Given the description of an element on the screen output the (x, y) to click on. 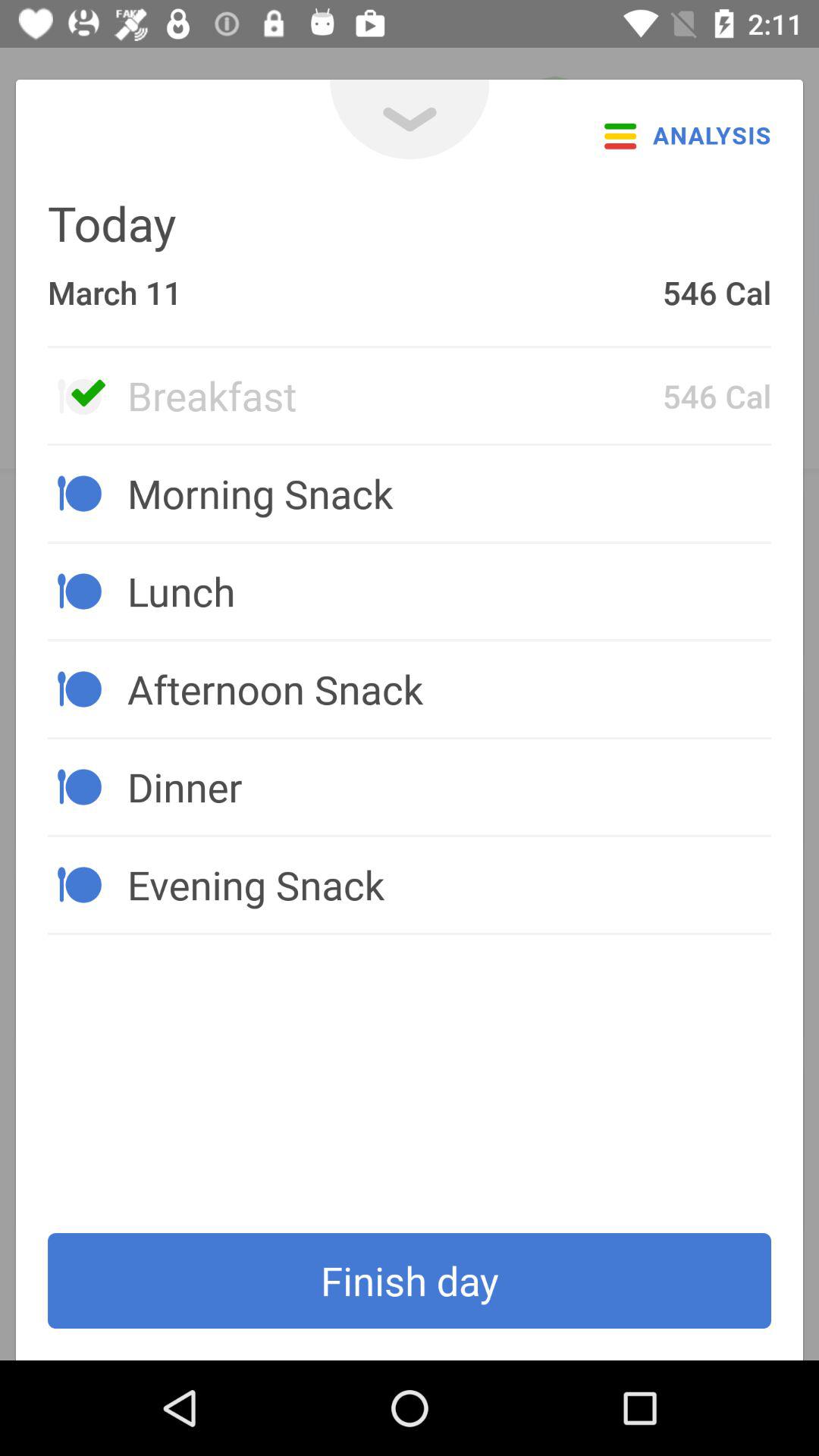
choose the item above 546 cal item (409, 119)
